Given the description of an element on the screen output the (x, y) to click on. 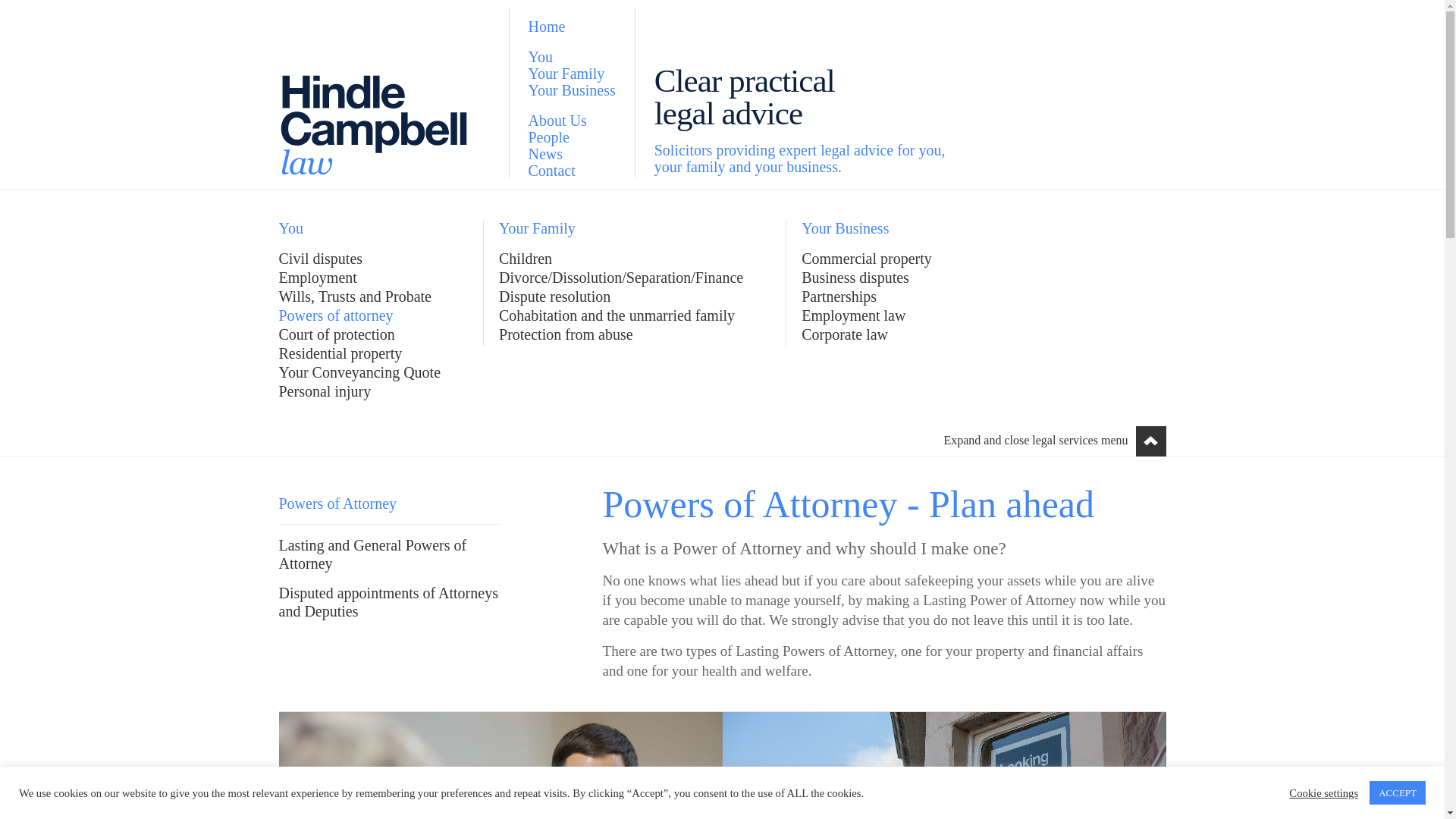
Disputed appointments of Attorneys and Deputies (389, 601)
Dispute resolution (554, 296)
Your Family (570, 73)
Powers of attorney (336, 315)
Residential property (341, 352)
Children (525, 258)
Employment law (853, 315)
People (570, 136)
News (570, 153)
Commercial property (866, 258)
